Given the description of an element on the screen output the (x, y) to click on. 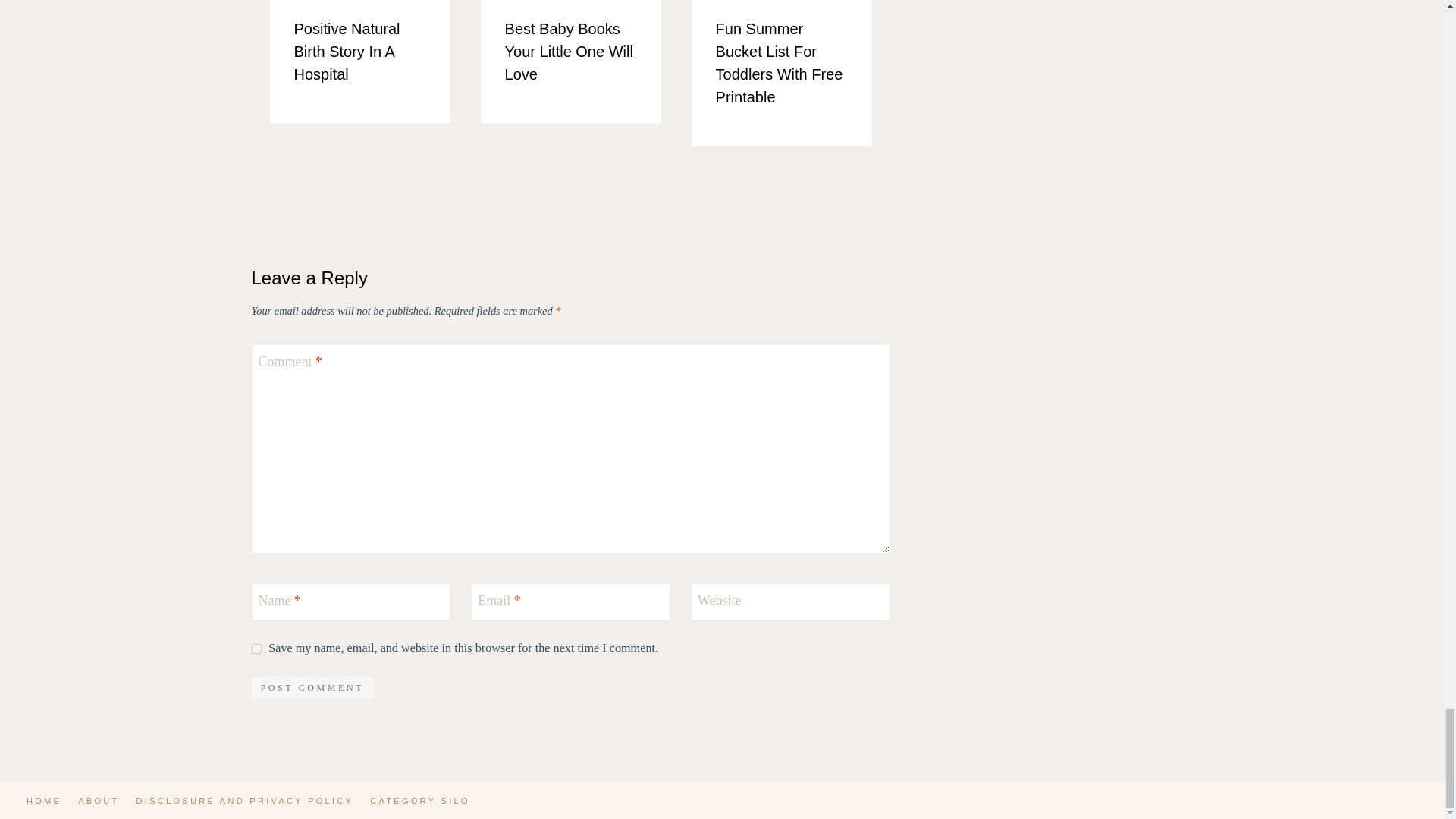
Post Comment (312, 688)
yes (256, 648)
